Given the description of an element on the screen output the (x, y) to click on. 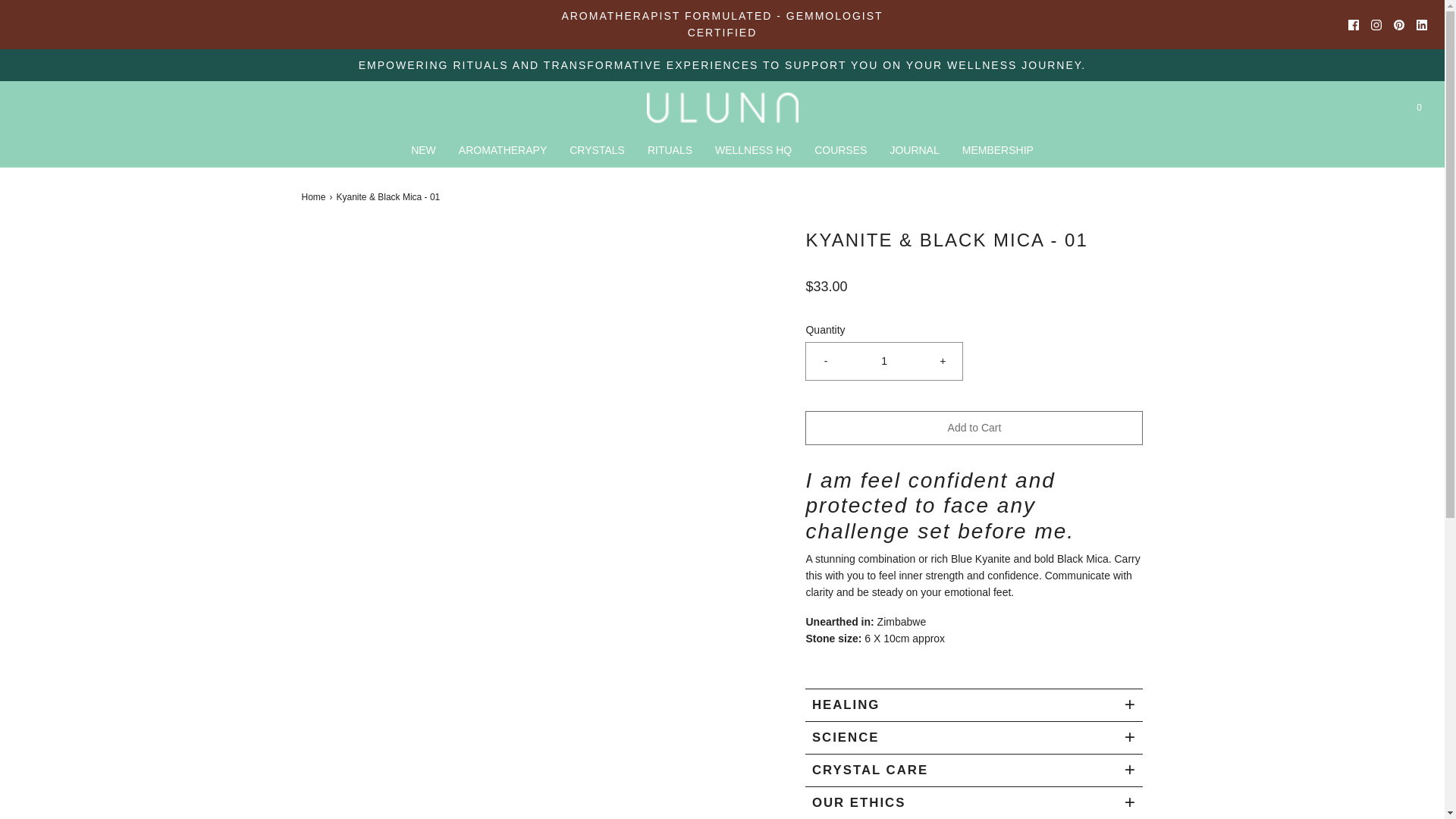
PINTEREST ICON (1399, 24)
INSTAGRAM ICON (1376, 24)
LINKEDIN ICON (1421, 24)
FACEBOOK ICON (1353, 24)
INSTAGRAM ICON (1376, 24)
1 (884, 361)
PINTEREST ICON (1399, 24)
FACEBOOK ICON (1353, 24)
LINKEDIN ICON (1421, 24)
Back to the frontpage (315, 197)
